Given the description of an element on the screen output the (x, y) to click on. 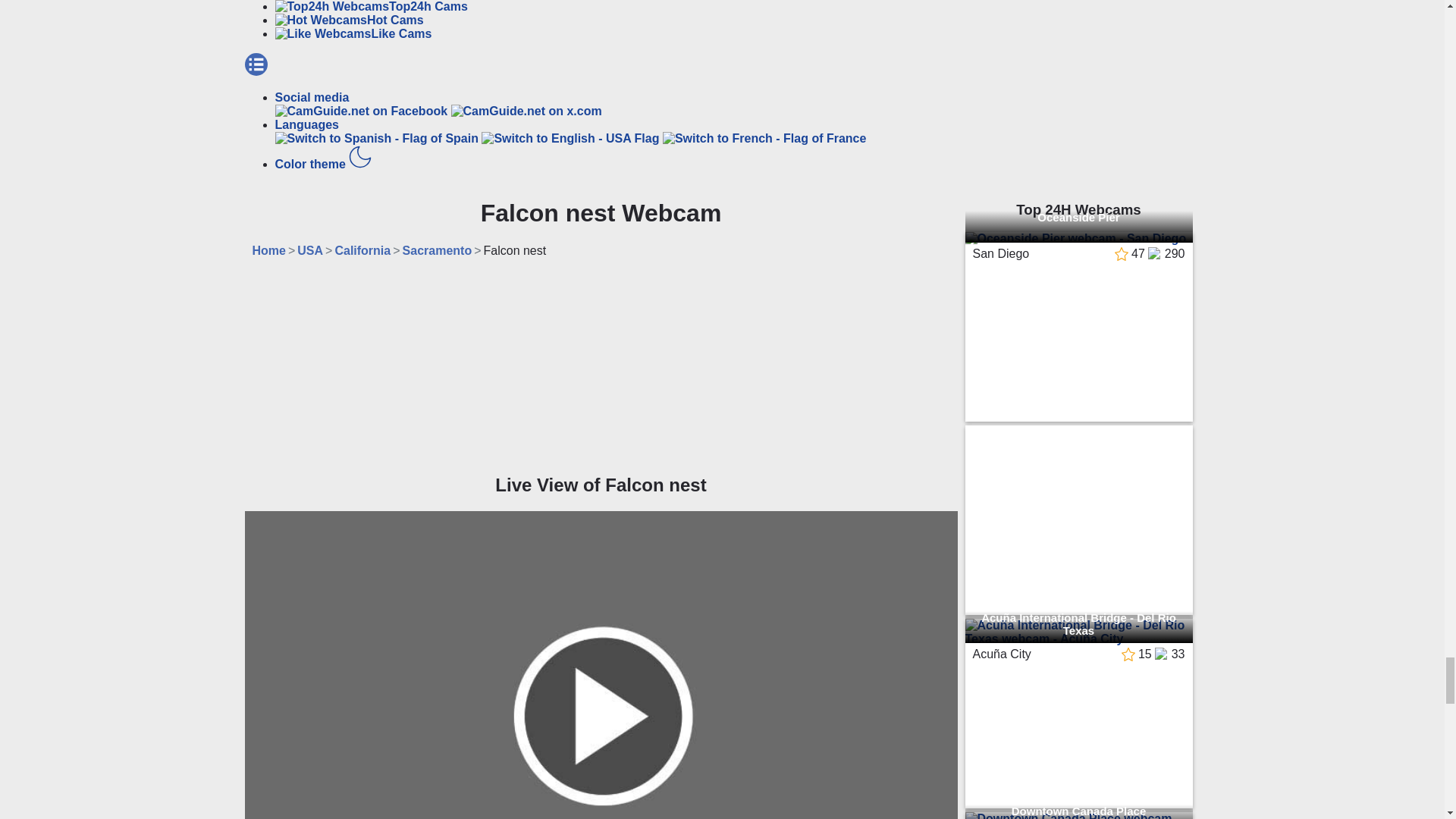
English version (571, 137)
Camguide.net on Facebook (362, 110)
camguide.net on X (526, 110)
